Given the description of an element on the screen output the (x, y) to click on. 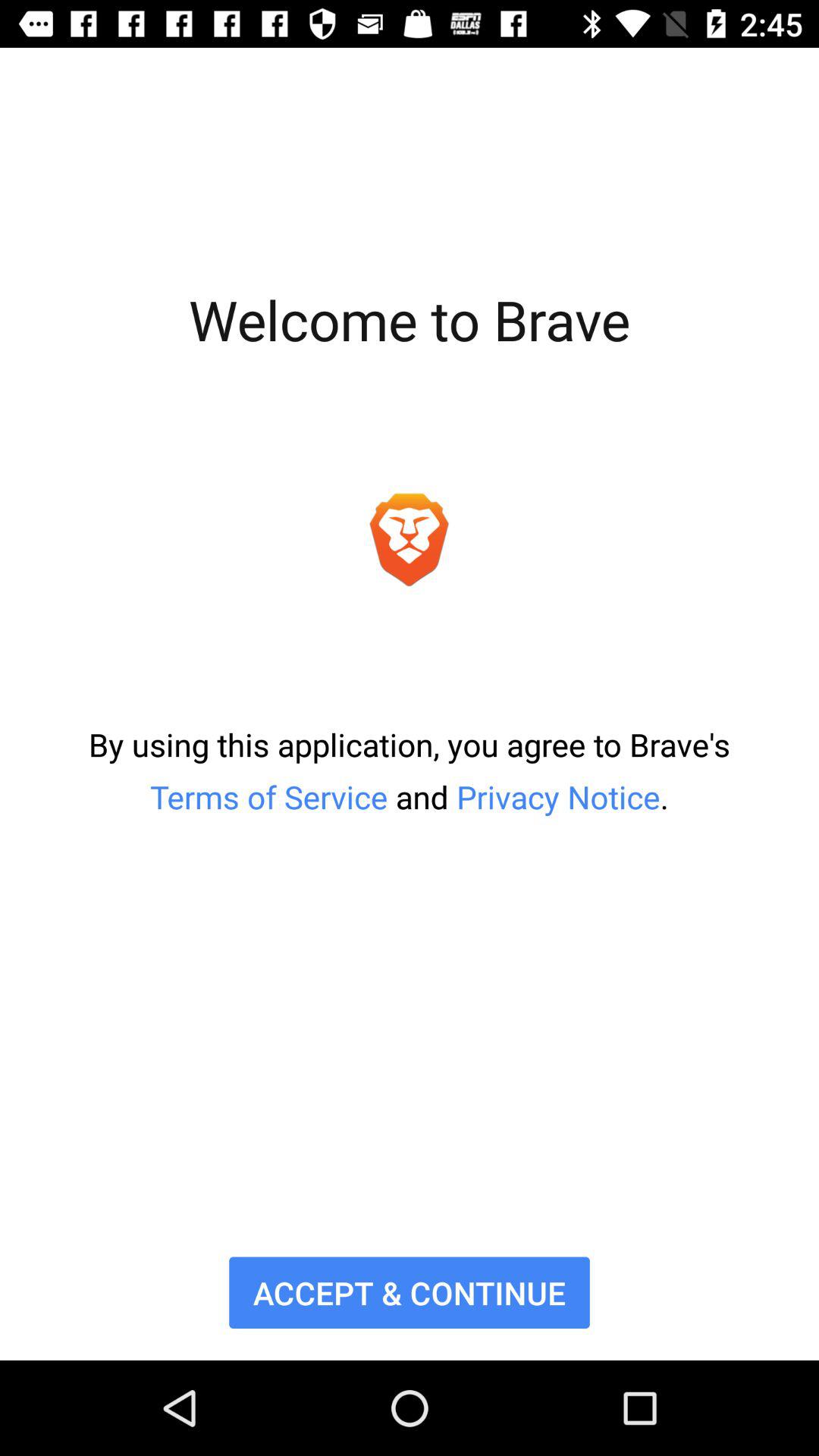
turn off the icon above accept & continue item (409, 770)
